Given the description of an element on the screen output the (x, y) to click on. 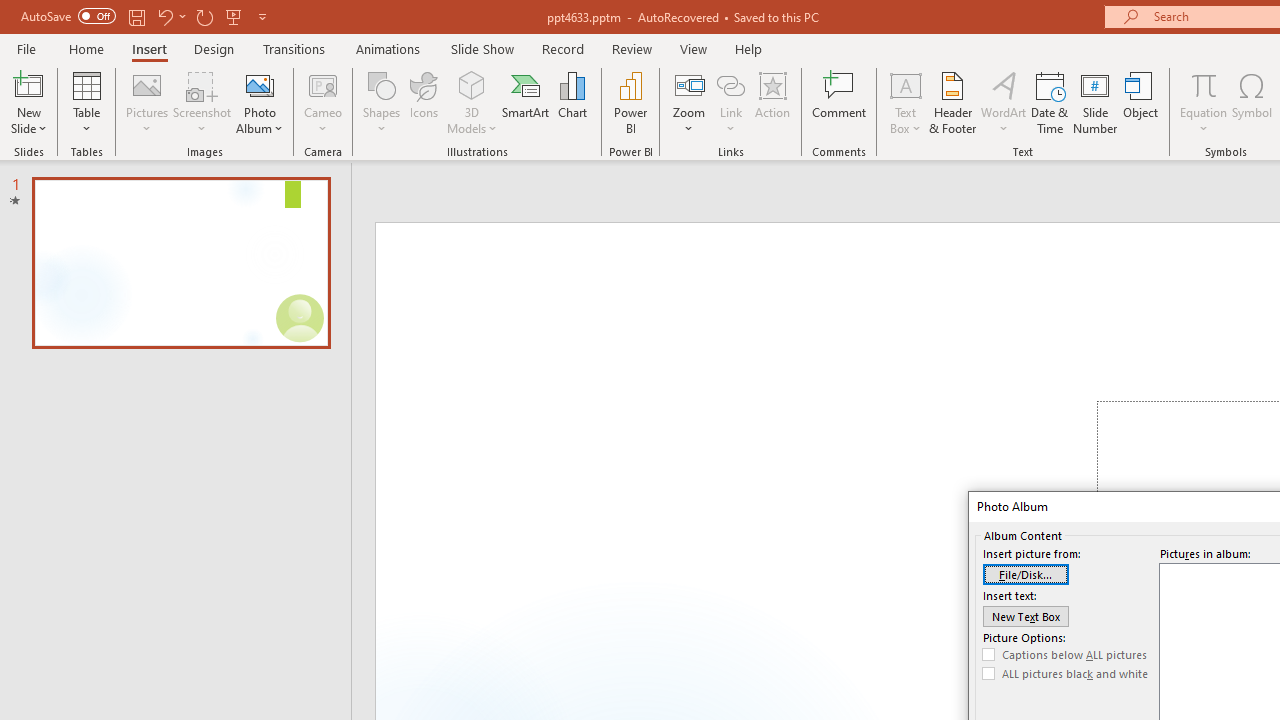
Screenshot (202, 102)
Action (772, 102)
Link (731, 84)
New Photo Album... (259, 84)
Chart... (572, 102)
ALL pictures black and white (1065, 673)
